Given the description of an element on the screen output the (x, y) to click on. 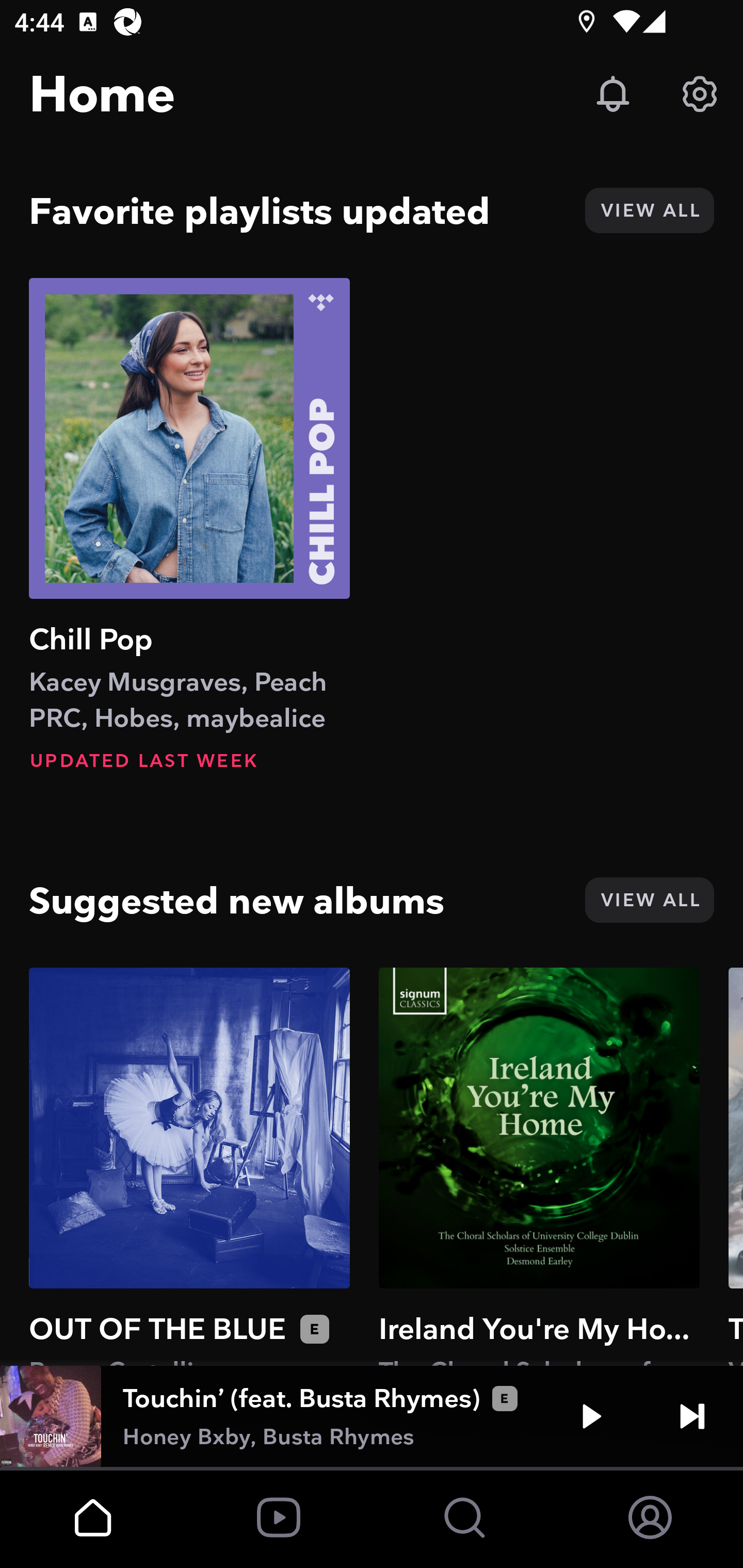
Updates (612, 93)
Settings (699, 93)
VIEW ALL (649, 210)
VIEW ALL (649, 899)
OUT OF THE BLUE Brynn Cartelli (188, 1166)
Play (590, 1416)
